Given the description of an element on the screen output the (x, y) to click on. 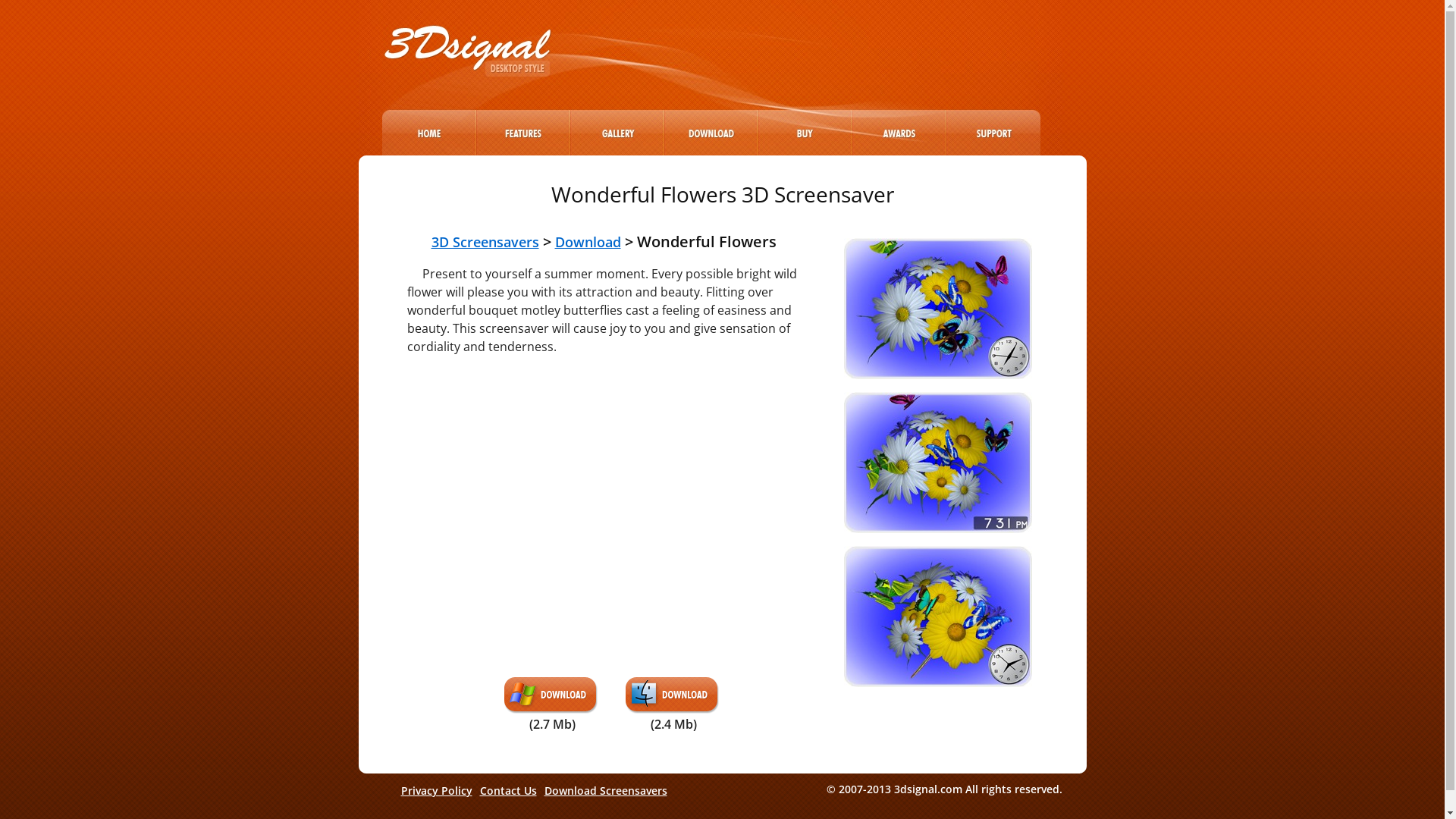
3D Screensavers Element type: text (484, 241)
Download for Mac Element type: text (672, 704)
Download Screensavers Element type: text (609, 790)
Download Element type: text (588, 241)
Contact Us Element type: text (511, 790)
Privacy Policy Element type: text (439, 790)
Download for Windows Element type: text (551, 704)
